Given the description of an element on the screen output the (x, y) to click on. 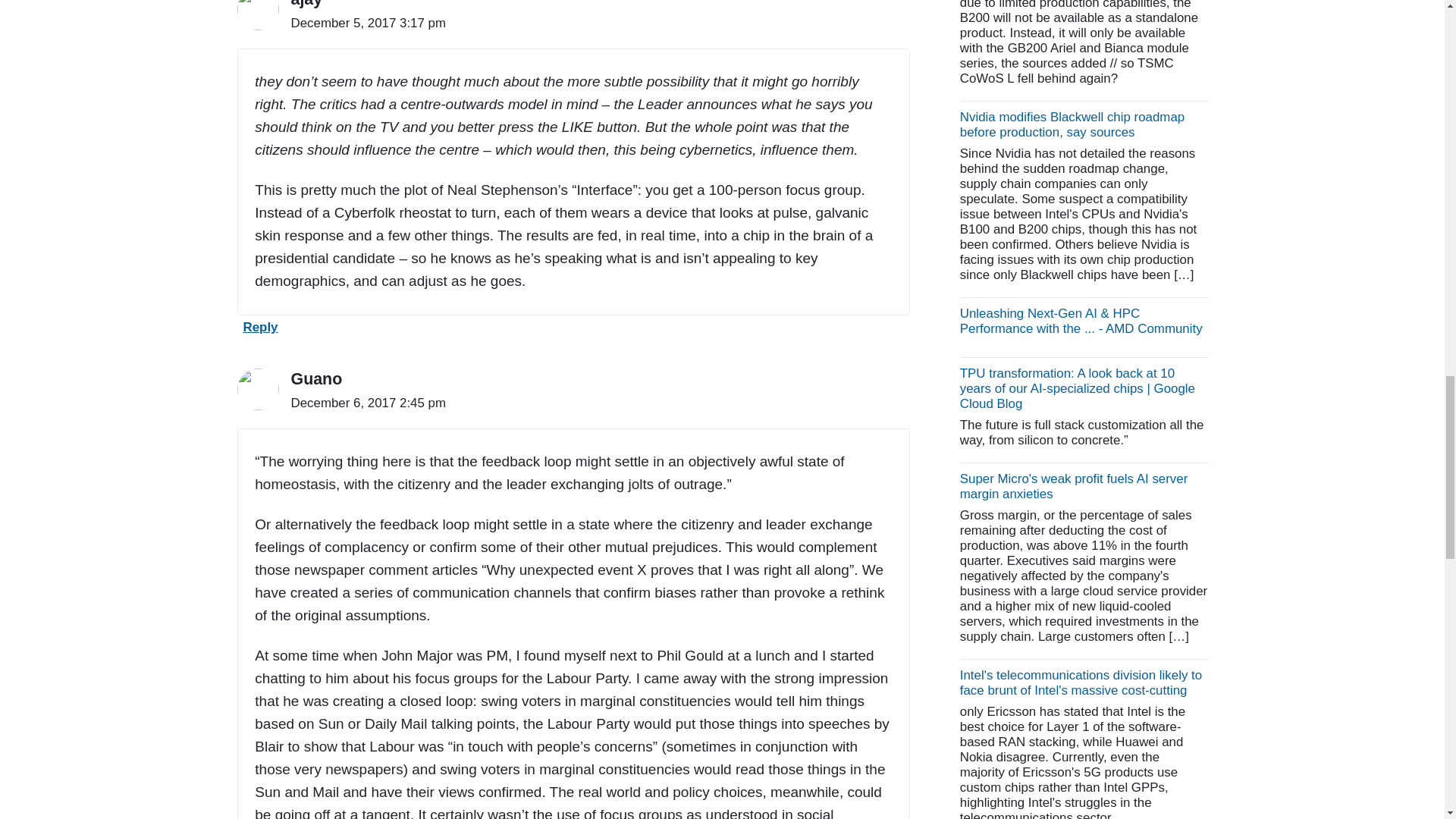
December 6, 2017 2:45 pm (368, 401)
Wednesday, December 6, 2017, 2:45 pm (368, 402)
December 5, 2017 3:17 pm (368, 22)
Tuesday, December 5, 2017, 3:17 pm (368, 22)
Reply (256, 330)
